Given the description of an element on the screen output the (x, y) to click on. 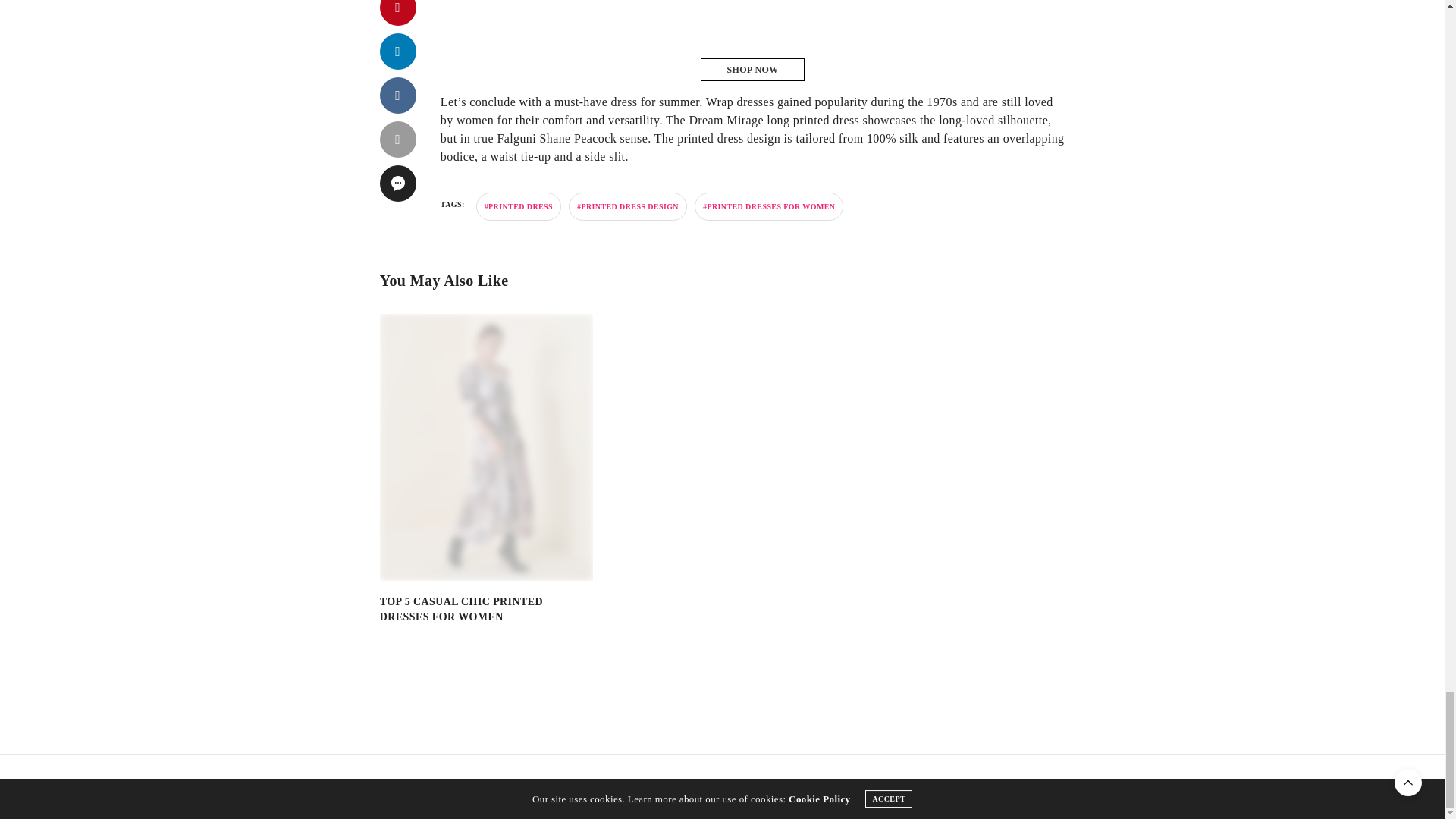
TOP 5 CASUAL CHIC PRINTED DRESSES FOR WOMEN (461, 609)
SHOP NOW (751, 69)
